Given the description of an element on the screen output the (x, y) to click on. 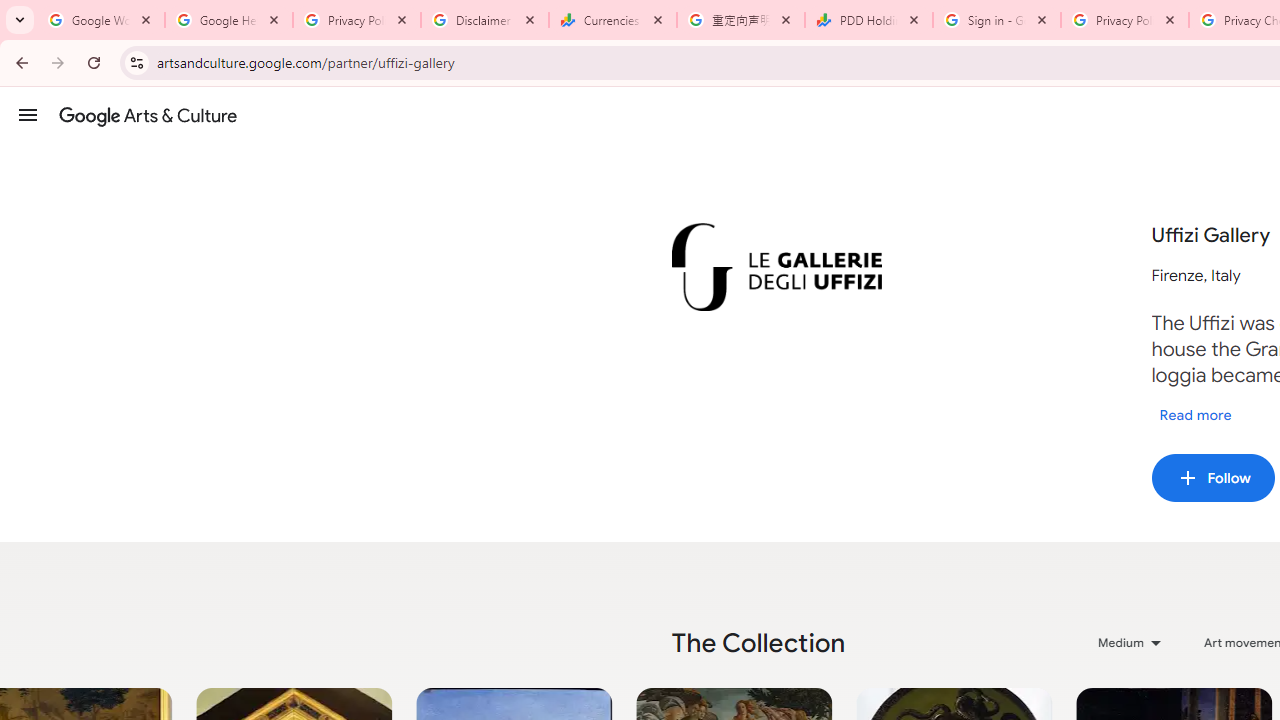
Read more (1195, 414)
Menu (27, 114)
Uffizi Gallery (775, 267)
Medium (1131, 642)
